Given the description of an element on the screen output the (x, y) to click on. 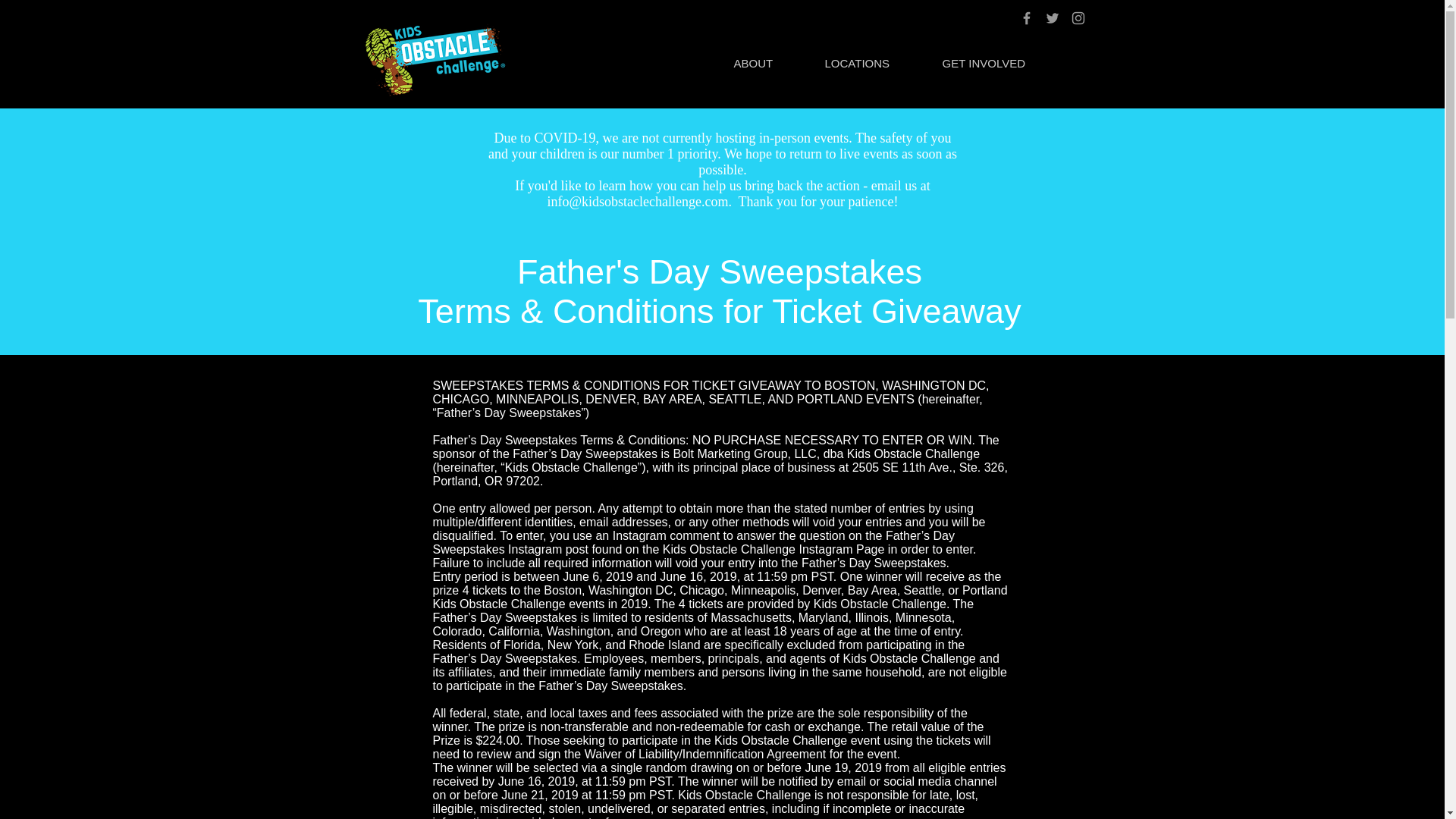
ABOUT (767, 63)
LOCATIONS (871, 63)
GET INVOLVED (997, 63)
